Given the description of an element on the screen output the (x, y) to click on. 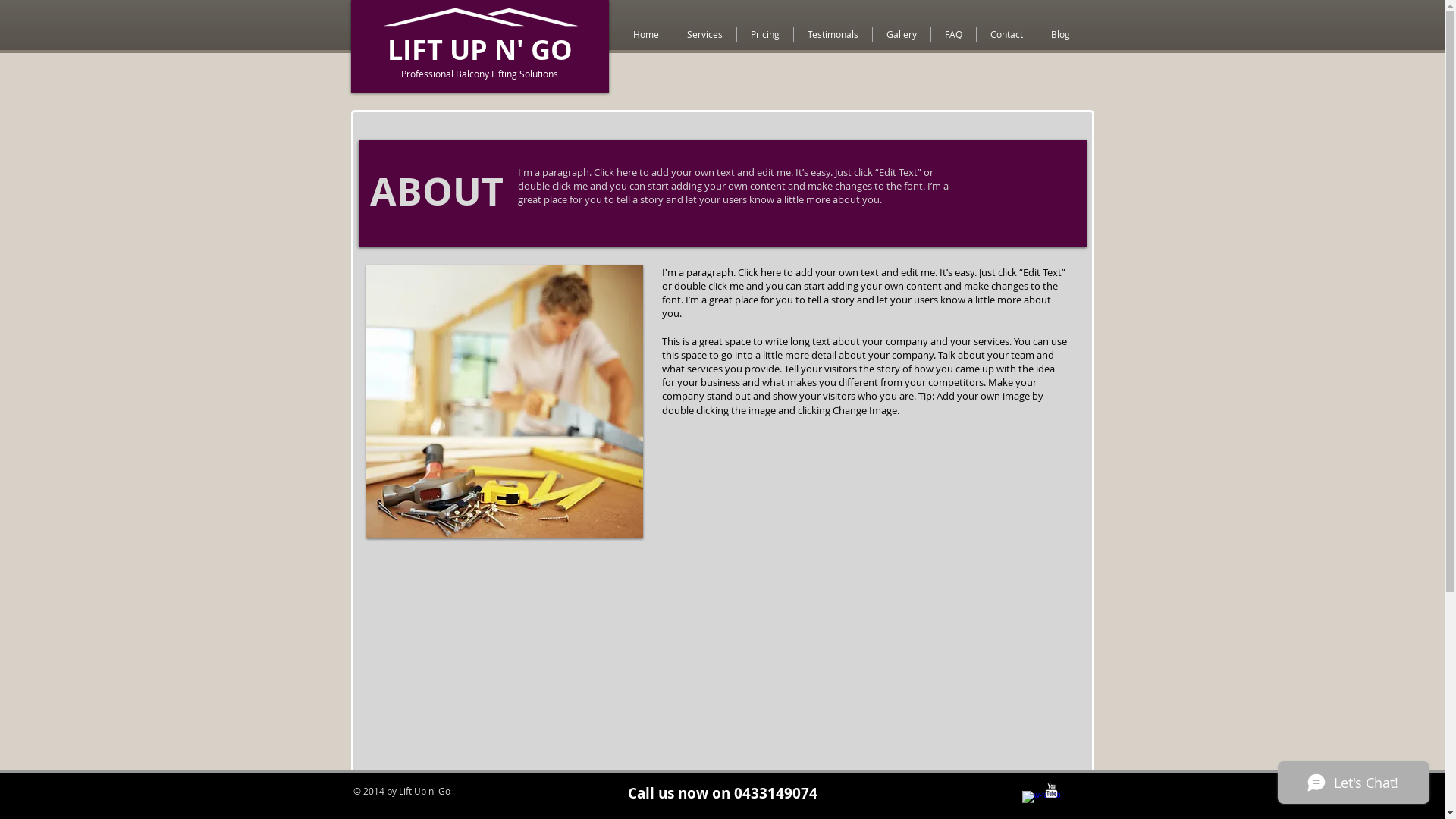
Gallery Element type: text (900, 34)
Contact Element type: text (1006, 34)
Pricing Element type: text (765, 34)
Professional Balcony Lifting Solutions Element type: text (479, 73)
Services Element type: text (704, 34)
Home Element type: text (644, 34)
FAQ Element type: text (953, 34)
Blog Element type: text (1060, 34)
Testimonals Element type: text (832, 34)
